Given the description of an element on the screen output the (x, y) to click on. 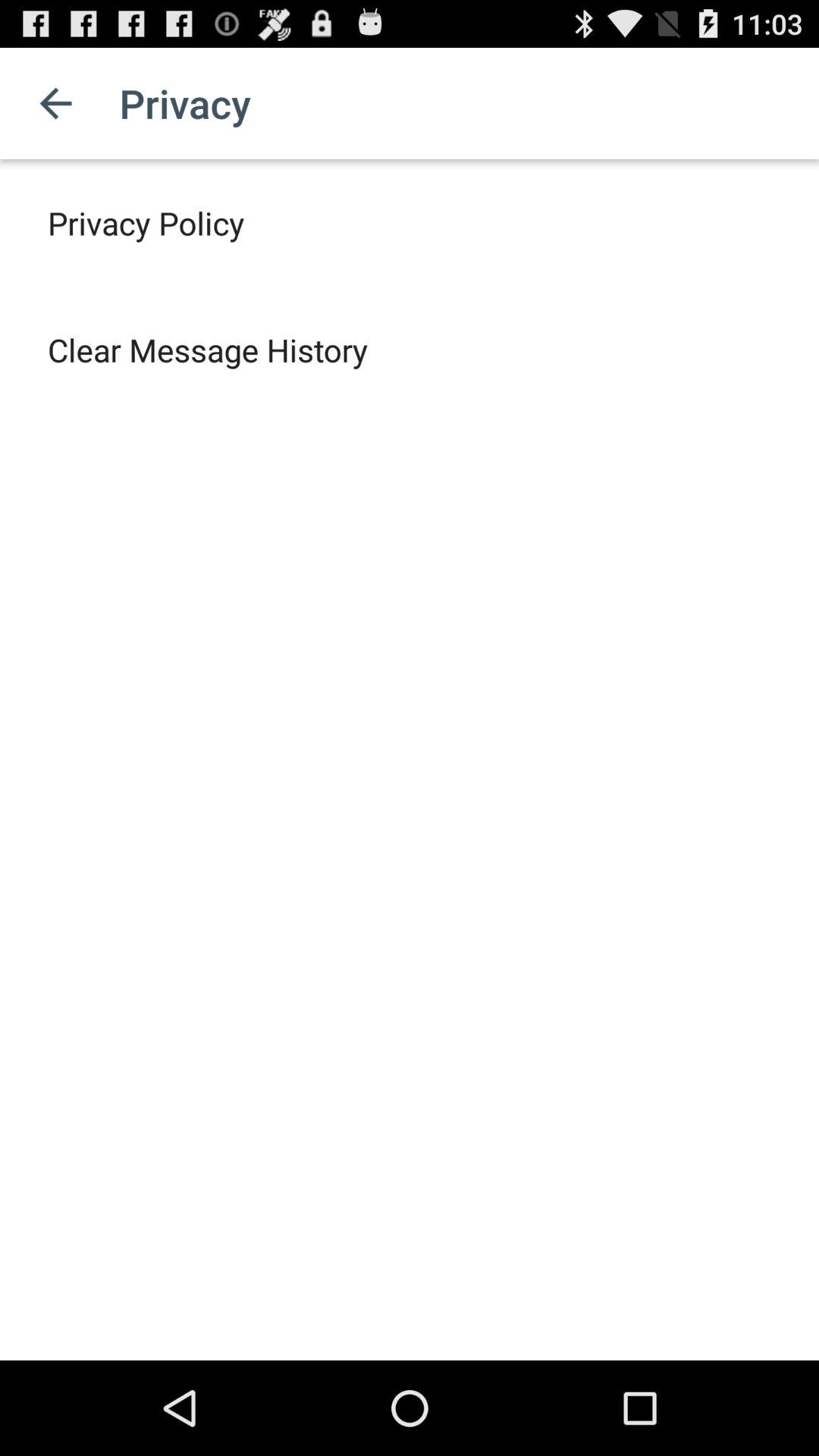
turn on app to the left of privacy item (55, 103)
